Given the description of an element on the screen output the (x, y) to click on. 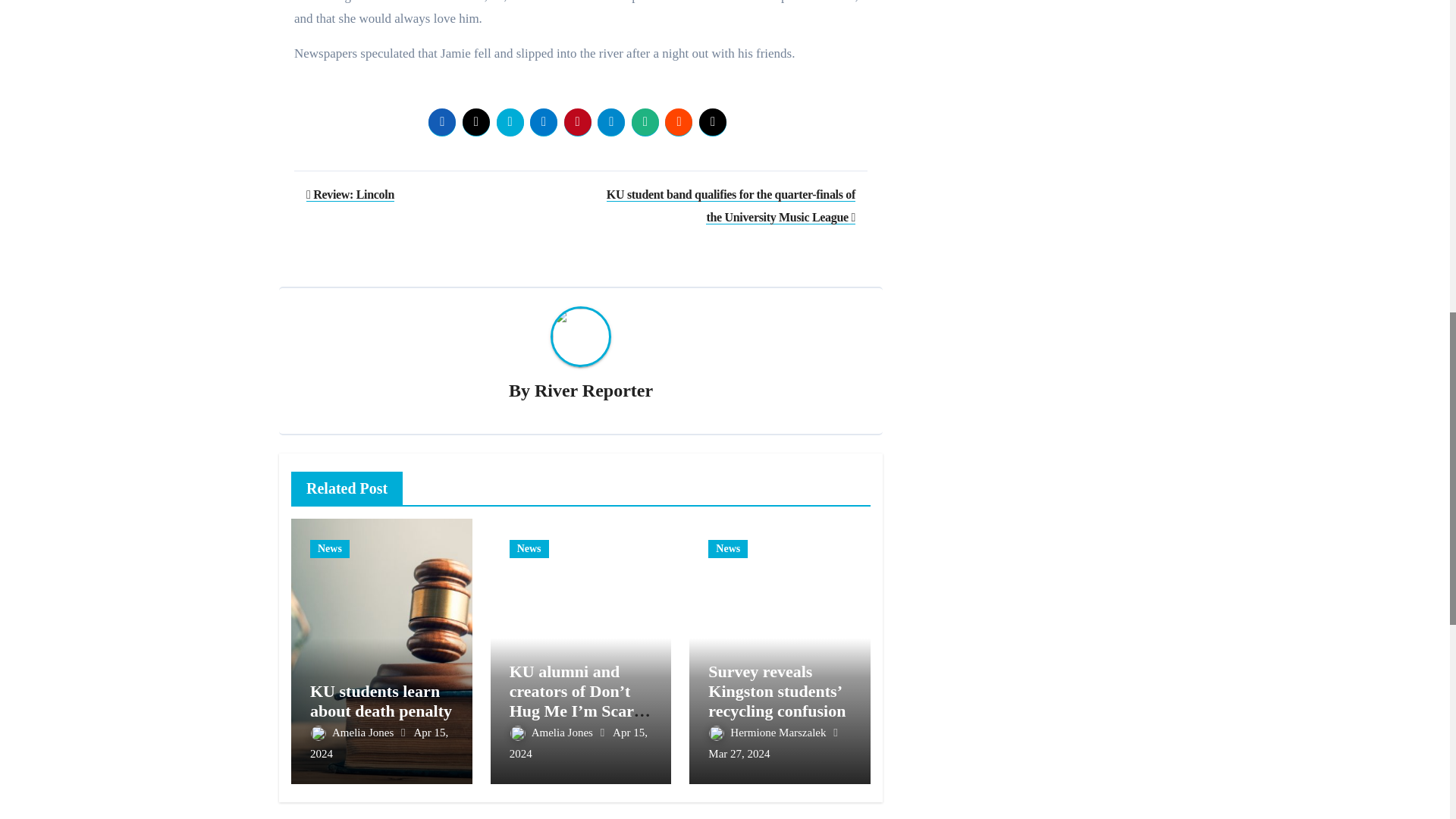
Permalink to: KU students learn about death penalty (380, 700)
